Given the description of an element on the screen output the (x, y) to click on. 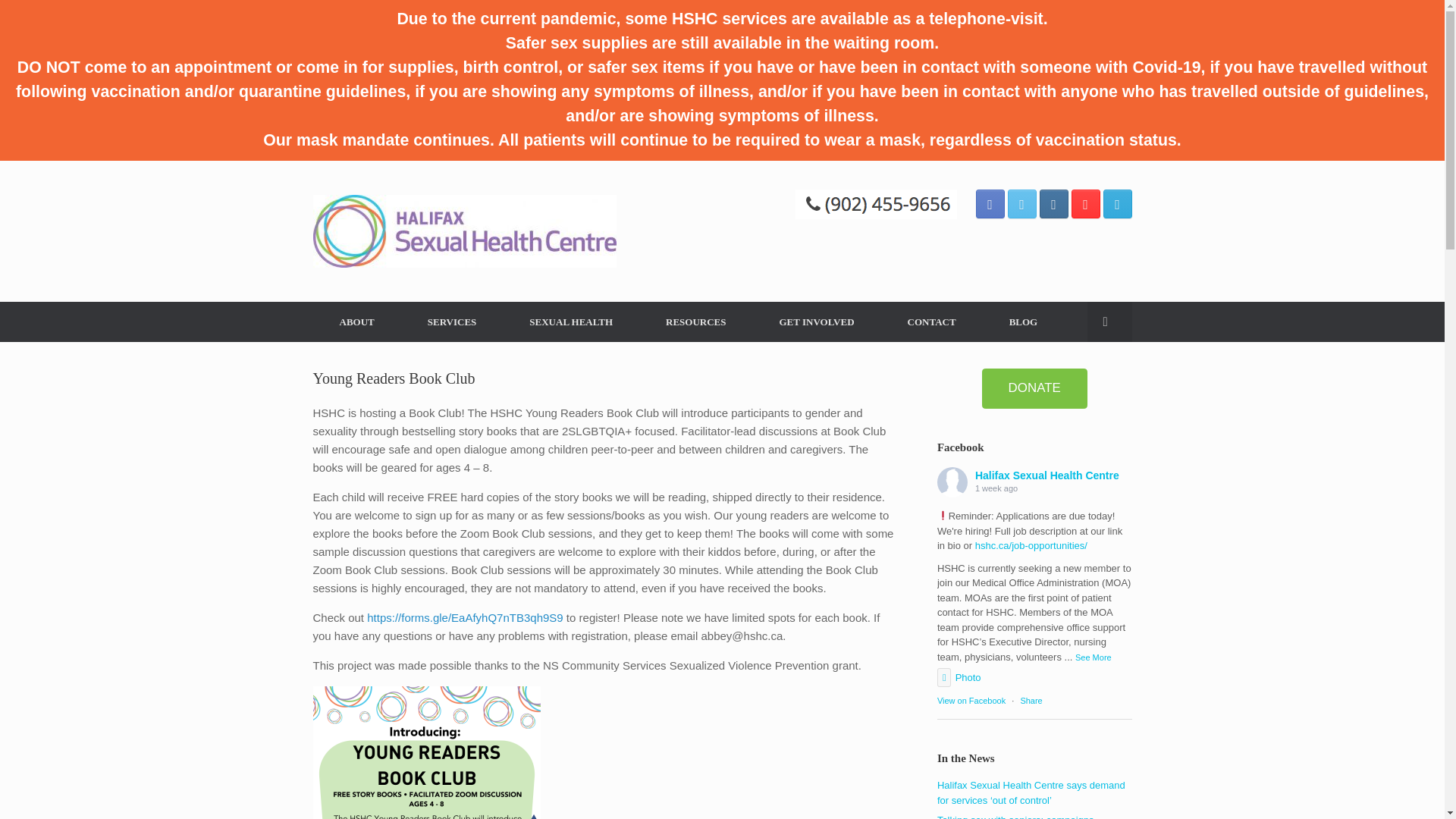
ABOUT (356, 322)
Halifax Sexual Health Centre Instagram (1053, 203)
SEXUAL HEALTH (570, 322)
View on Facebook (971, 700)
Halifax Sexual Health Centre Facebook (989, 203)
Halifax Sexual Health Centre Email (1116, 203)
SERVICES (452, 322)
Halifax Sexual Health Centre Twitter (1021, 203)
hshc phone number (875, 204)
Halifax Sexual Health Centre YouTube (1084, 203)
Halifax Sexual Health Centre (464, 230)
Share (1031, 700)
